Given the description of an element on the screen output the (x, y) to click on. 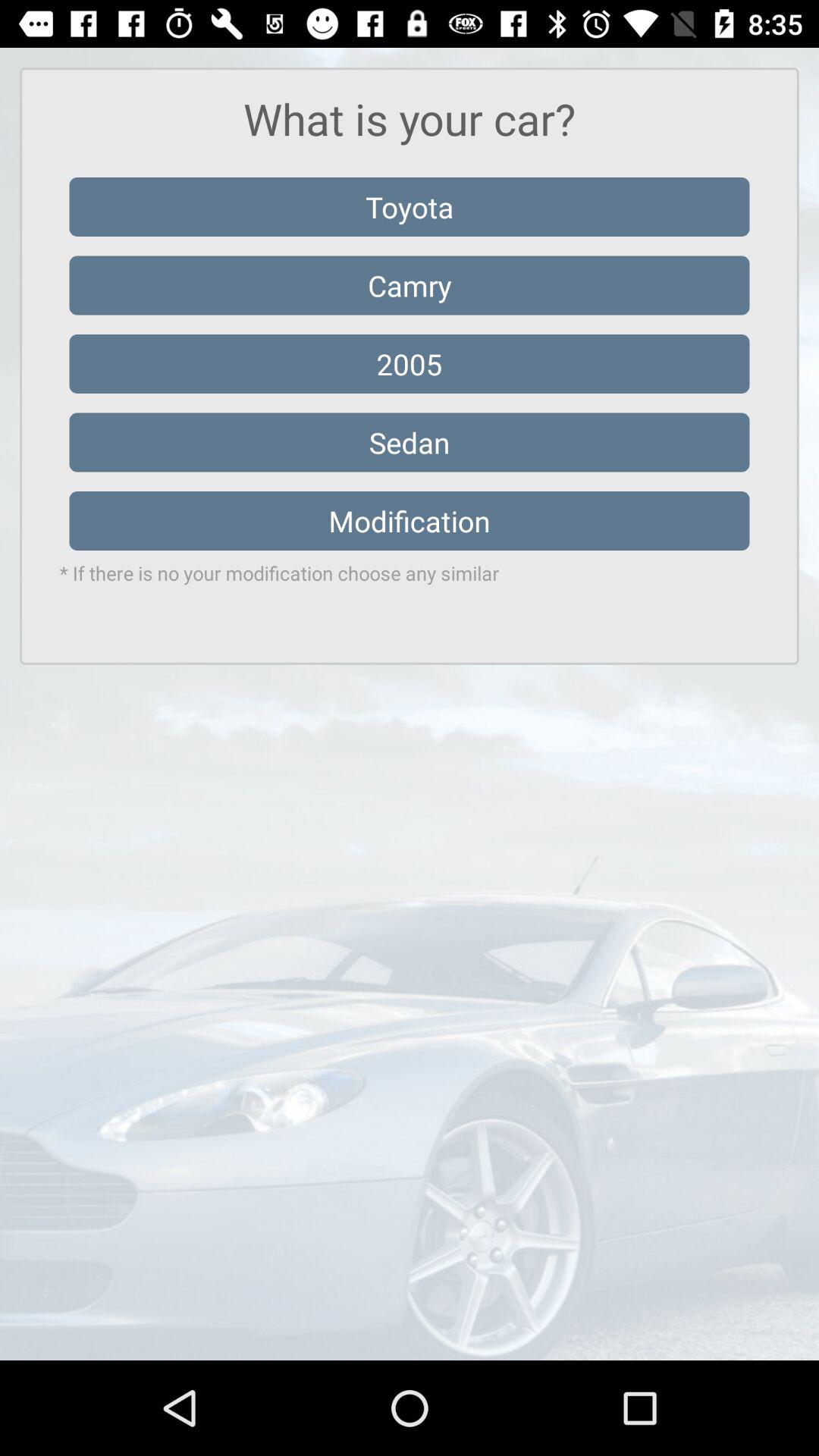
press icon below toyota (409, 285)
